Given the description of an element on the screen output the (x, y) to click on. 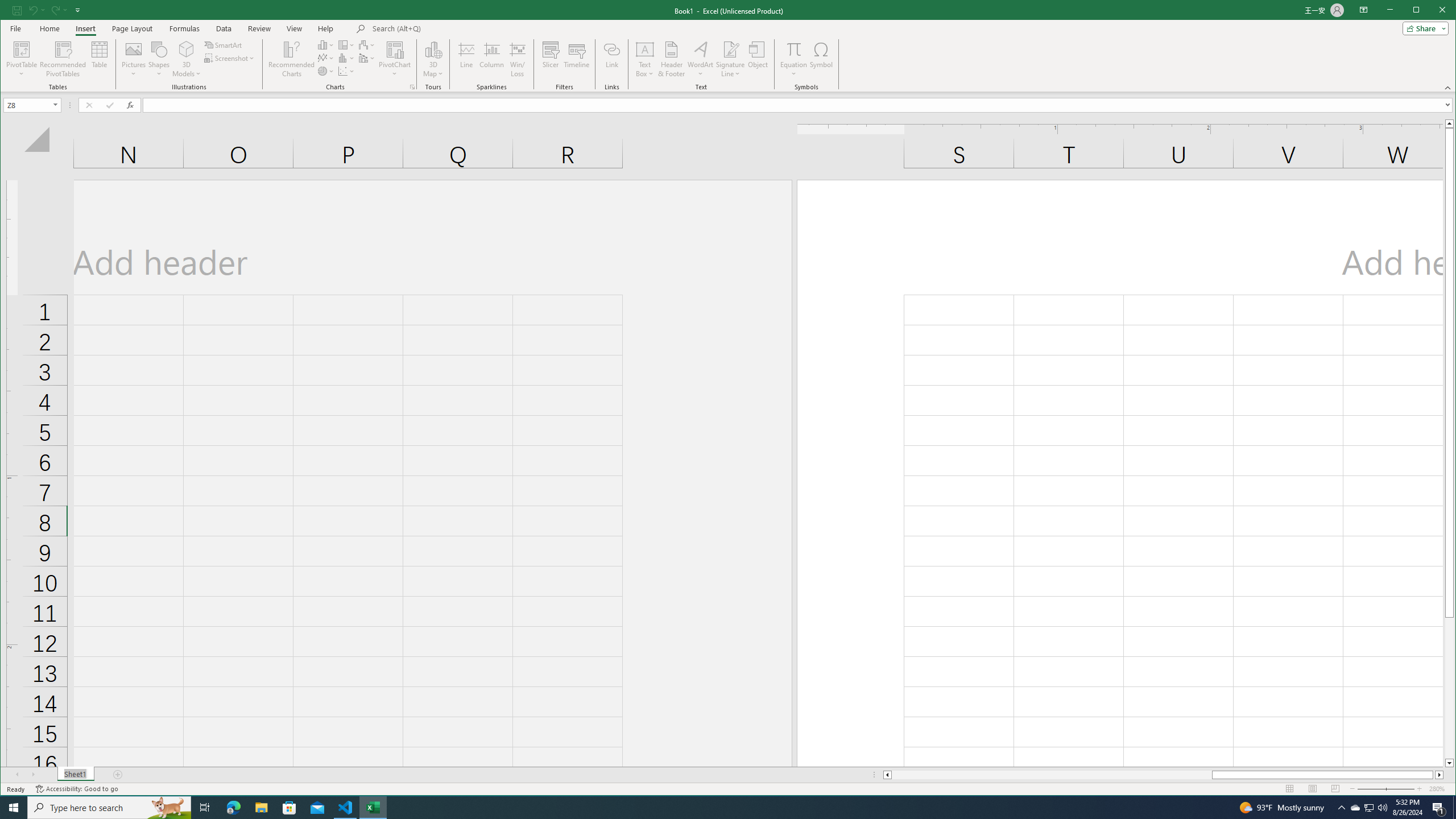
Formula Bar (799, 104)
Signature Line (729, 59)
PivotChart (394, 59)
Symbol... (821, 59)
Maximize (1432, 11)
File Explorer (261, 807)
Task View (204, 807)
Line (466, 59)
Win/Loss (517, 59)
Insert Combo Chart (366, 57)
